Given the description of an element on the screen output the (x, y) to click on. 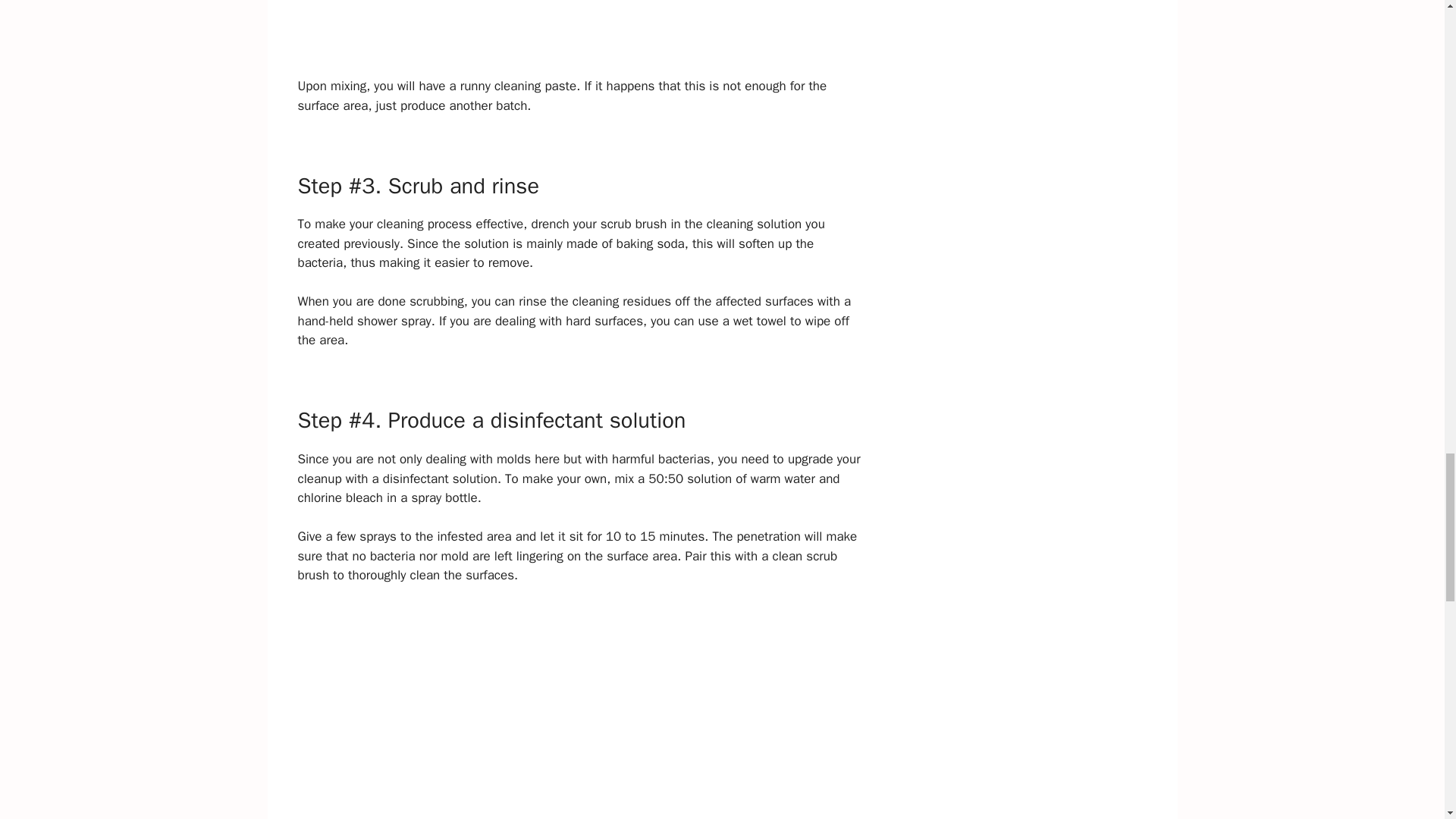
Advertisement (579, 38)
Advertisement (579, 710)
